Given the description of an element on the screen output the (x, y) to click on. 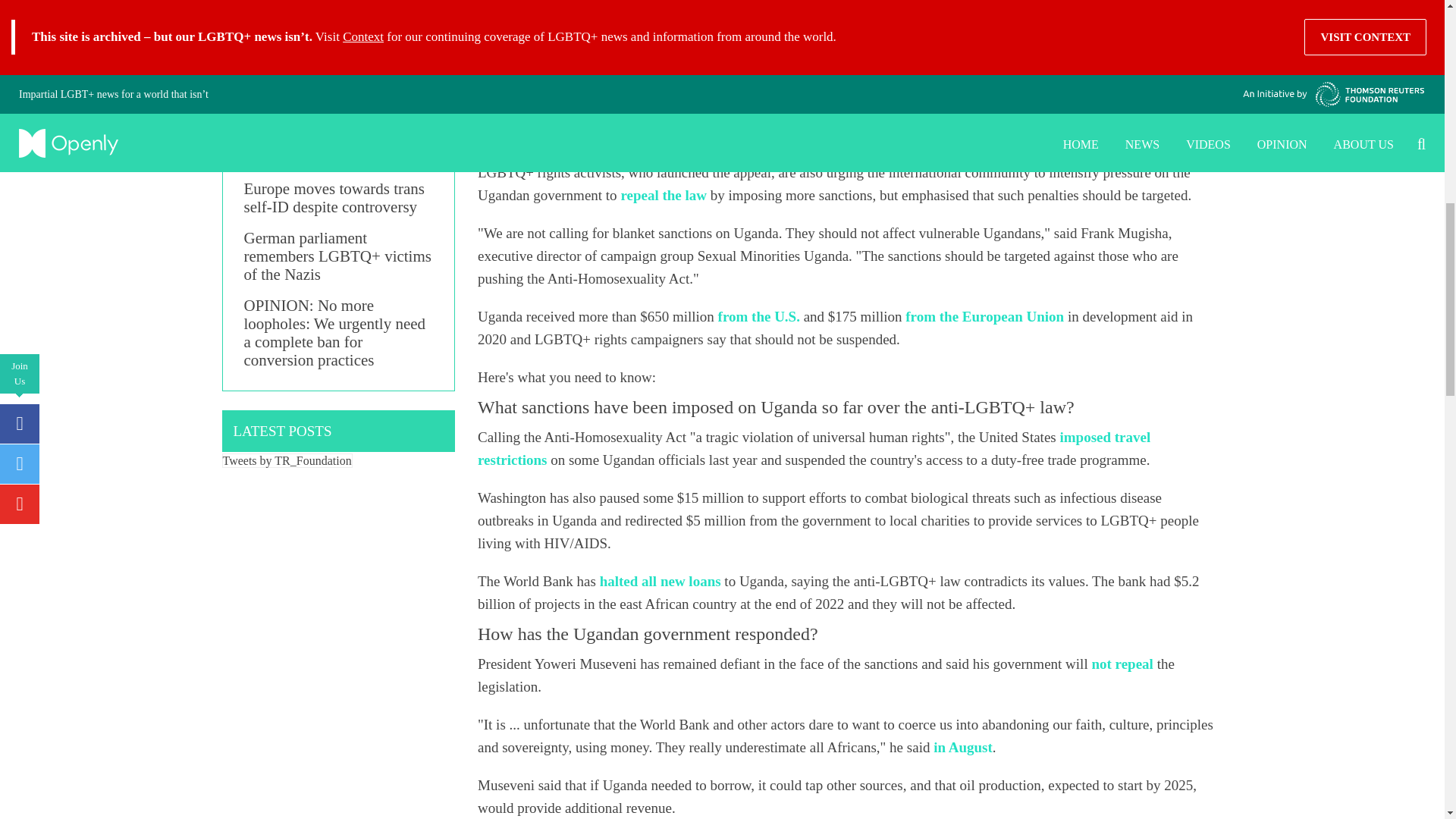
repeal the law (663, 195)
not repeal (1121, 663)
in August (962, 747)
Europe moves towards trans self-ID despite controversy (338, 197)
from the European Union (984, 316)
from the U.S. (758, 316)
Why are there no openly gay players in elite men's tennis? (338, 81)
halted all new loans (659, 580)
